Given the description of an element on the screen output the (x, y) to click on. 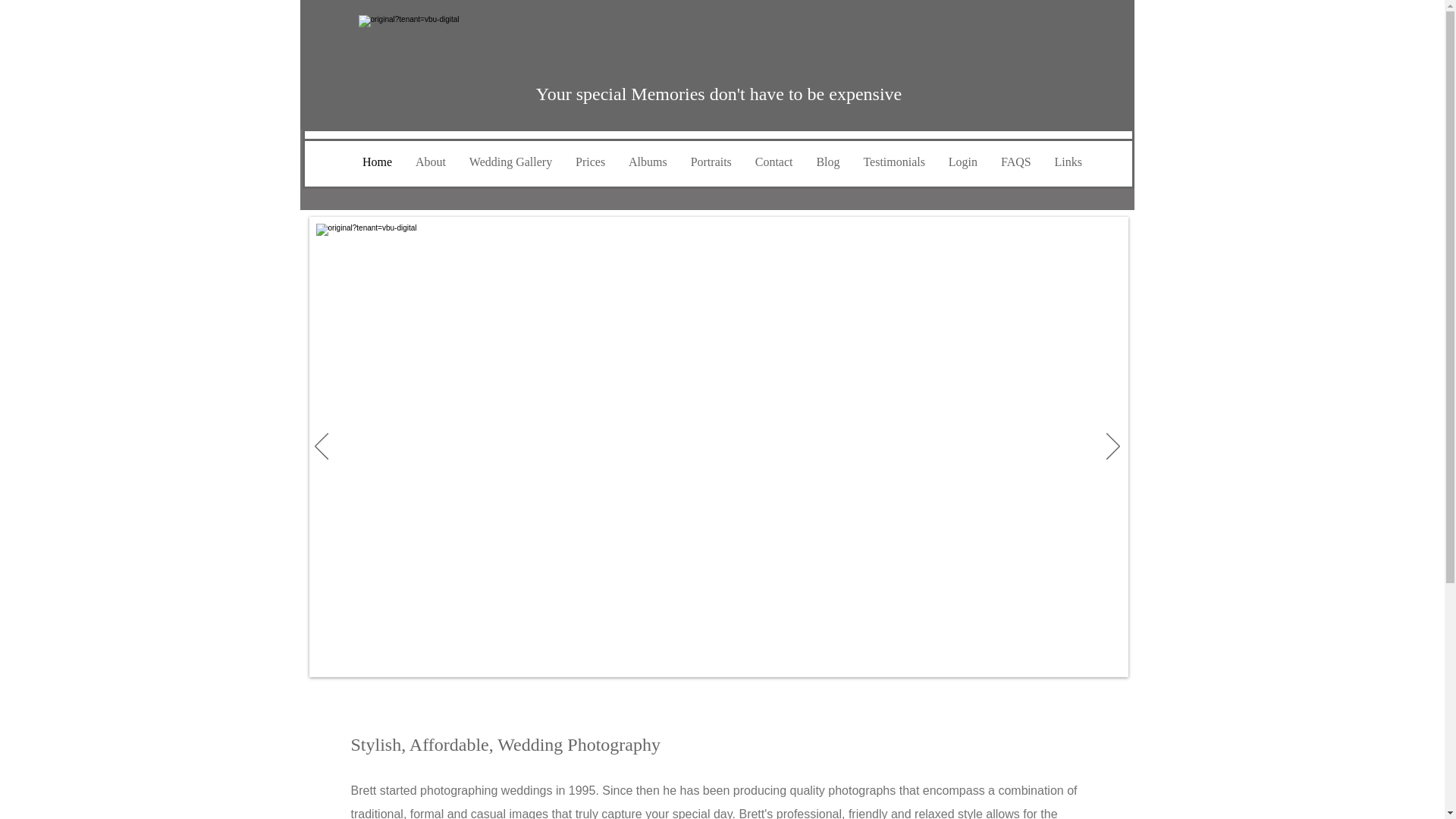
Albums (648, 161)
Portraits (710, 161)
Contact (773, 161)
Prices (590, 161)
Links (1067, 161)
FAQS (1016, 161)
About (430, 161)
Login (962, 161)
Wedding Gallery (510, 161)
Testimonials (893, 161)
Home (376, 161)
Blog (828, 161)
